Given the description of an element on the screen output the (x, y) to click on. 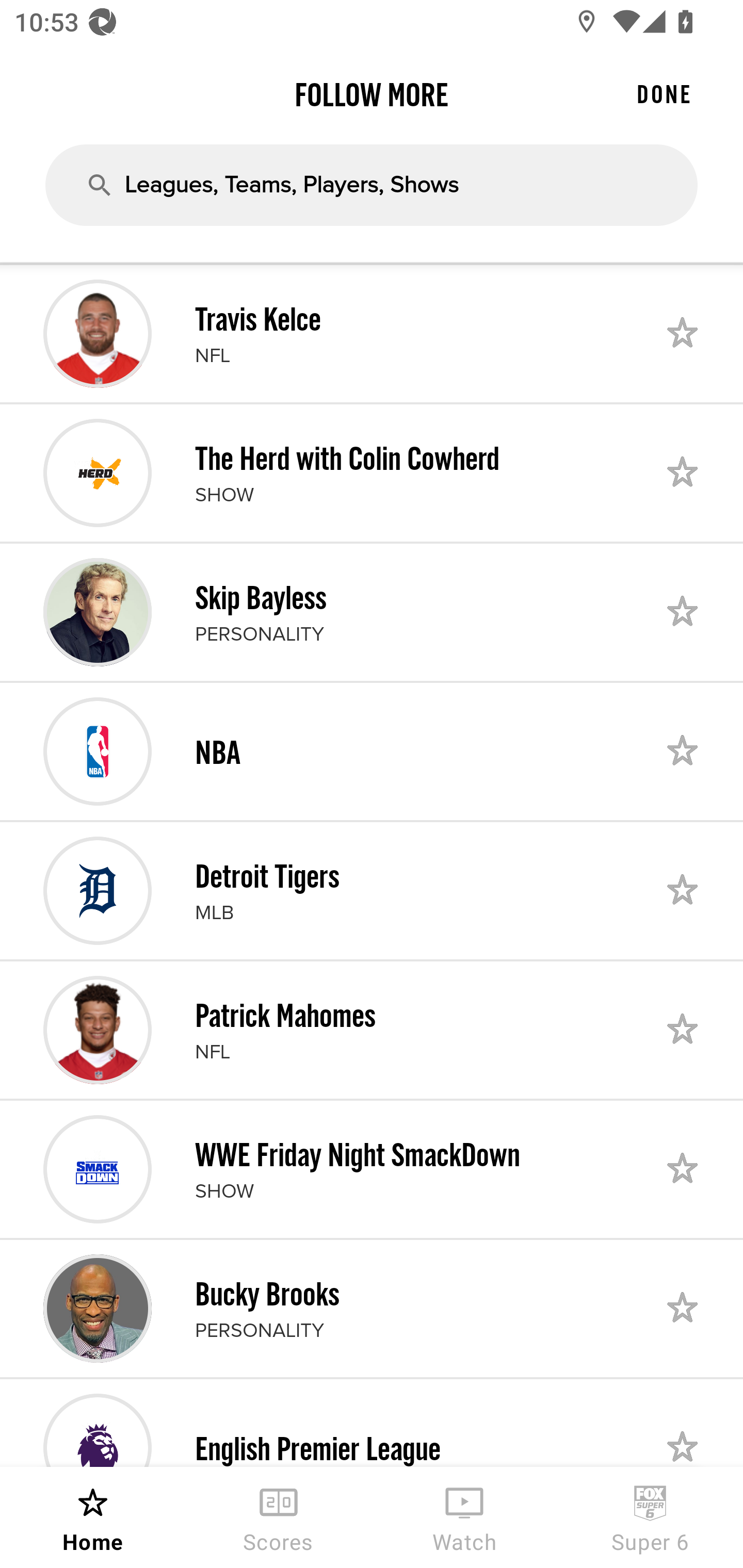
DONE (663, 93)
Leagues, Teams, Players, Shows (371, 184)
Travis Kelce NFL (371, 333)
The Herd with Colin Cowherd SHOW (371, 472)
Skip Bayless PERSONALITY (371, 612)
NBA (371, 751)
Detroit Tigers MLB (371, 890)
Patrick Mahomes NFL (371, 1030)
WWE Friday Night SmackDown SHOW (371, 1168)
Bucky Brooks PERSONALITY (371, 1308)
English Premier League (371, 1423)
Scores (278, 1517)
Watch (464, 1517)
Super 6 (650, 1517)
